Given the description of an element on the screen output the (x, y) to click on. 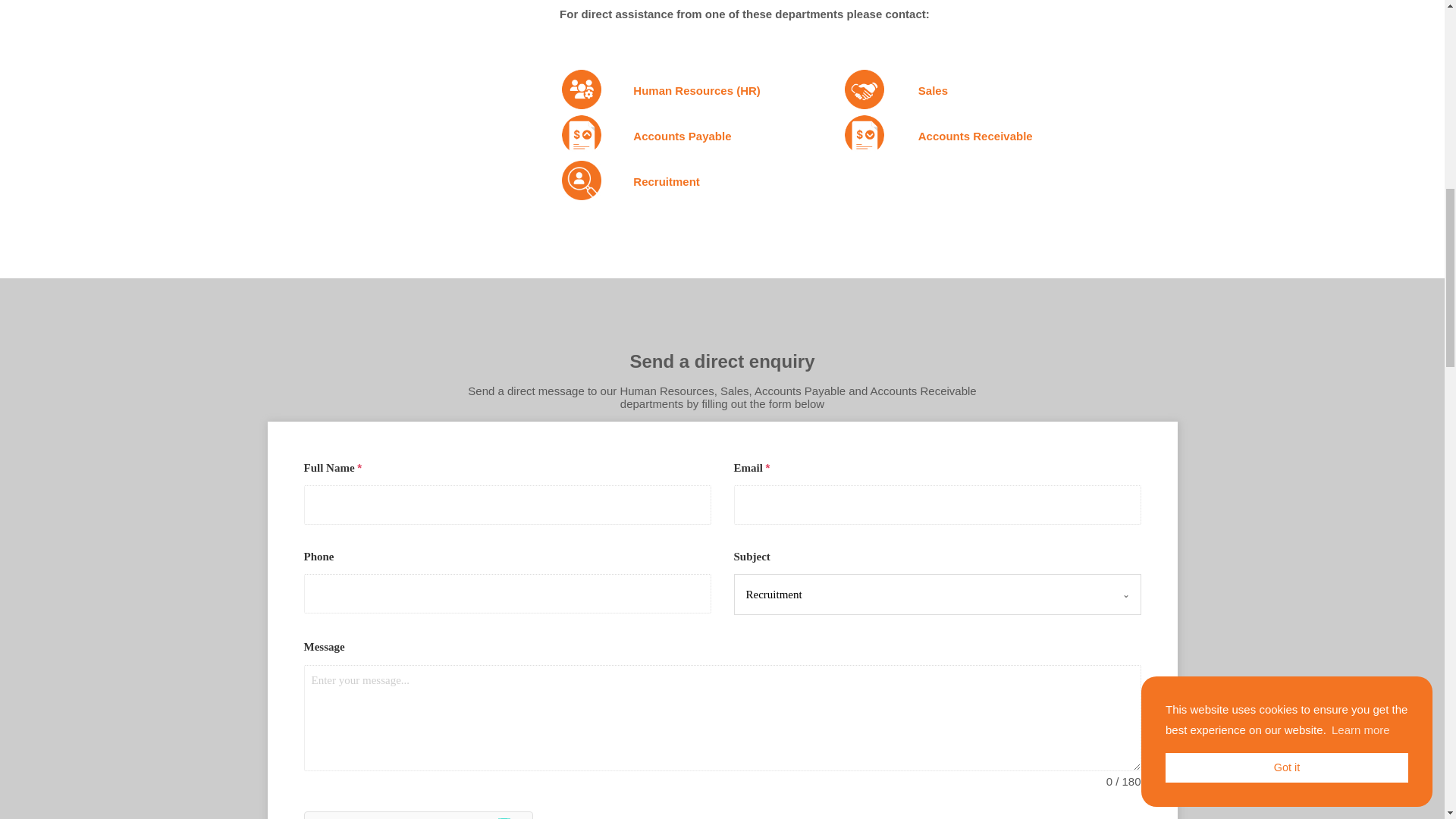
Widget containing checkbox for hCaptcha security challenge (417, 815)
Sales (932, 90)
Accounts Receivable (975, 135)
Recruitment (921, 594)
Accounts Payable (681, 135)
Recruitment (666, 181)
